Given the description of an element on the screen output the (x, y) to click on. 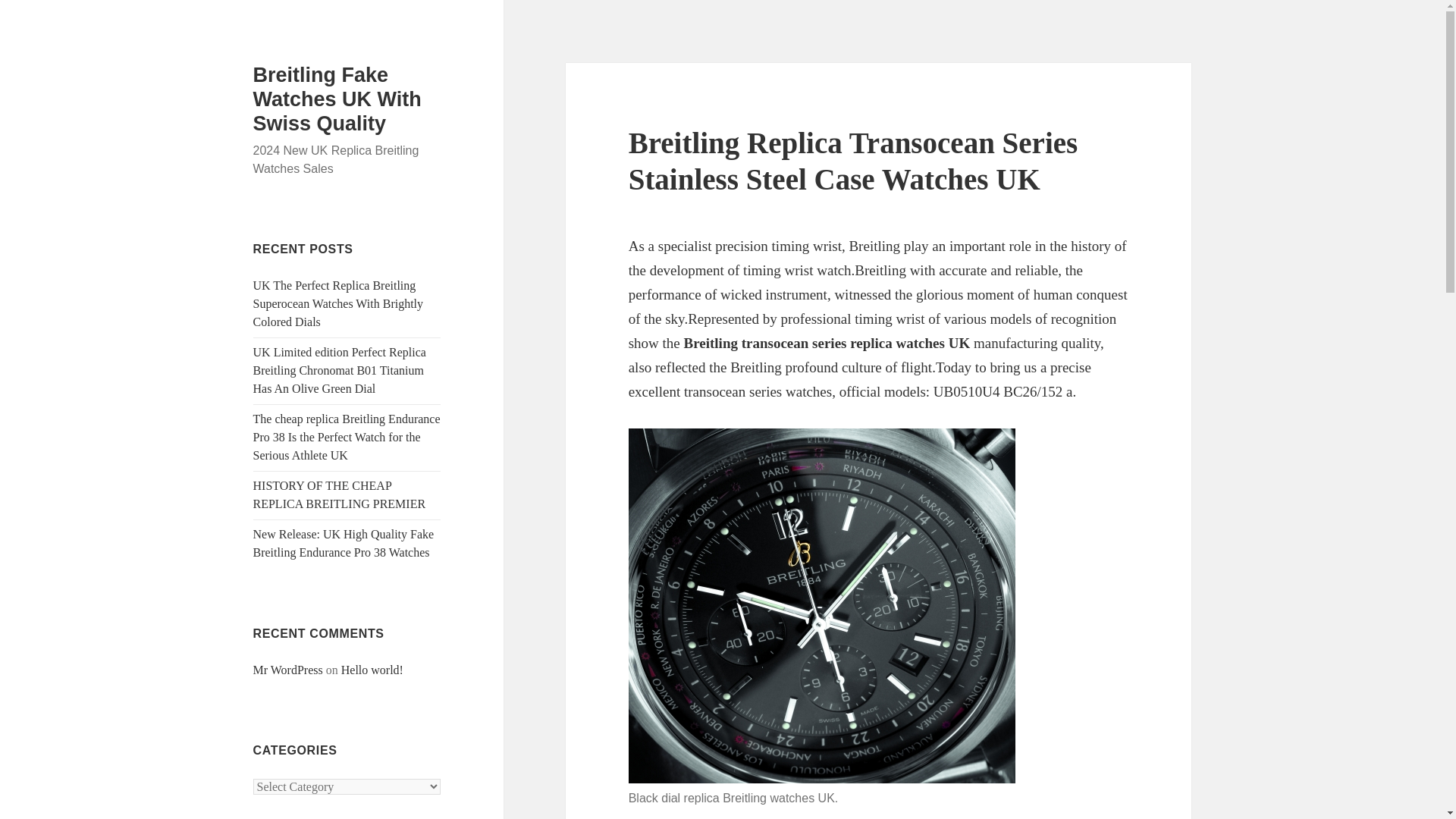
Hello world! (371, 669)
HISTORY OF THE CHEAP REPLICA BREITLING PREMIER (339, 494)
Breitling Fake Watches UK With Swiss Quality (337, 99)
Mr WordPress (288, 669)
